Given the description of an element on the screen output the (x, y) to click on. 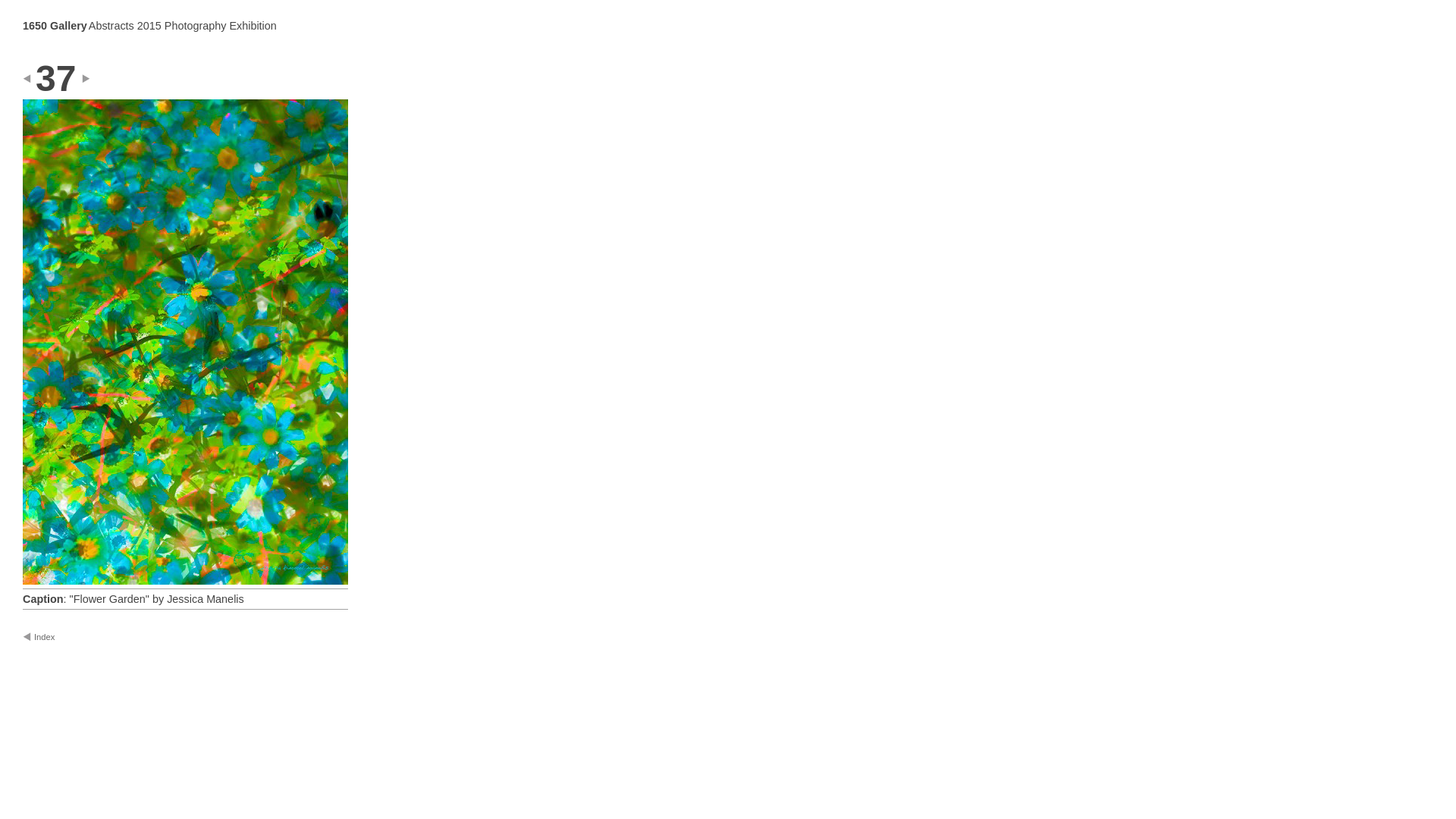
    Element type: text (37, 78)
Index Element type: text (60, 636)
    Element type: text (96, 78)
